Given the description of an element on the screen output the (x, y) to click on. 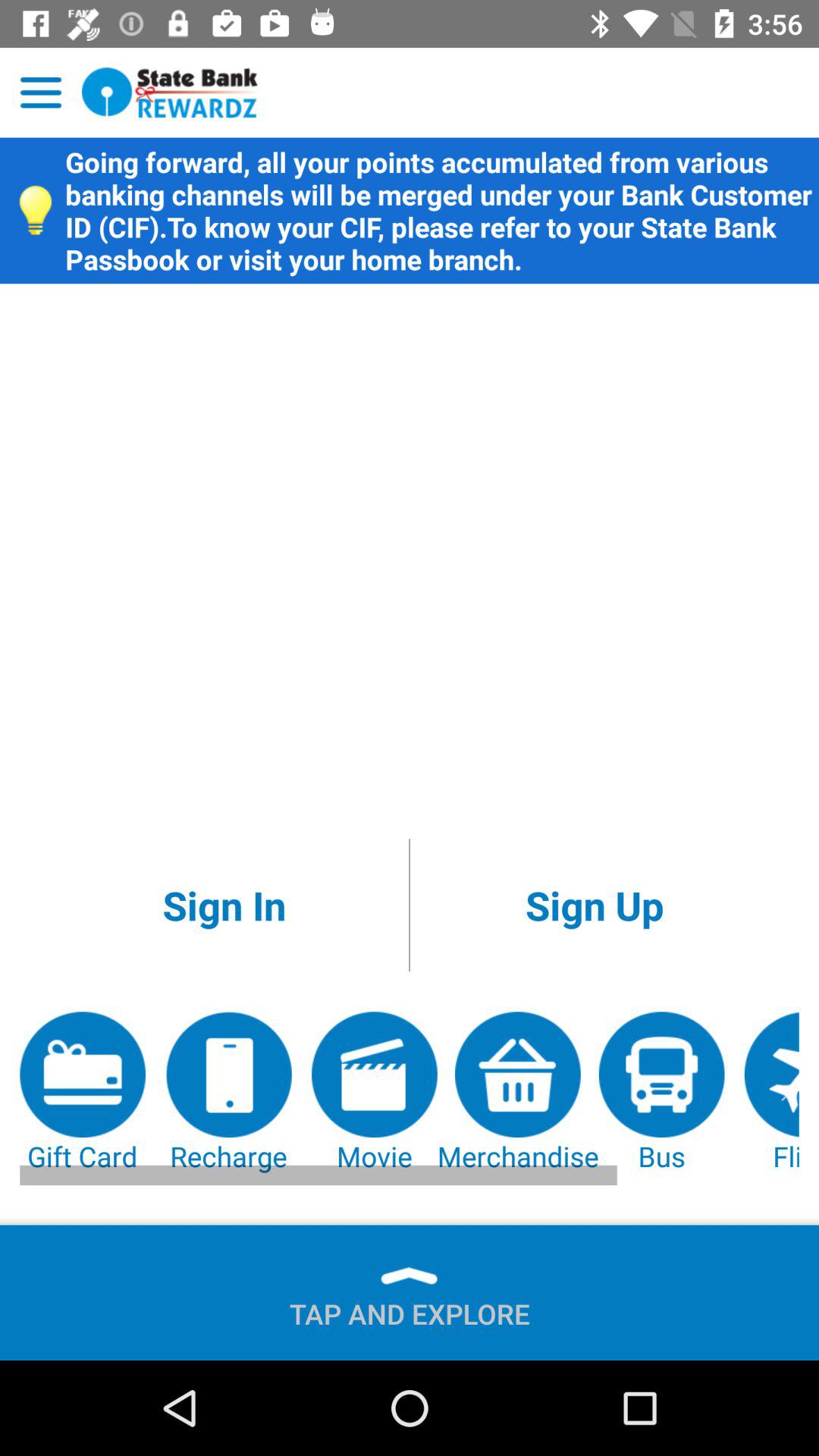
scroll to merchandise icon (517, 1093)
